Given the description of an element on the screen output the (x, y) to click on. 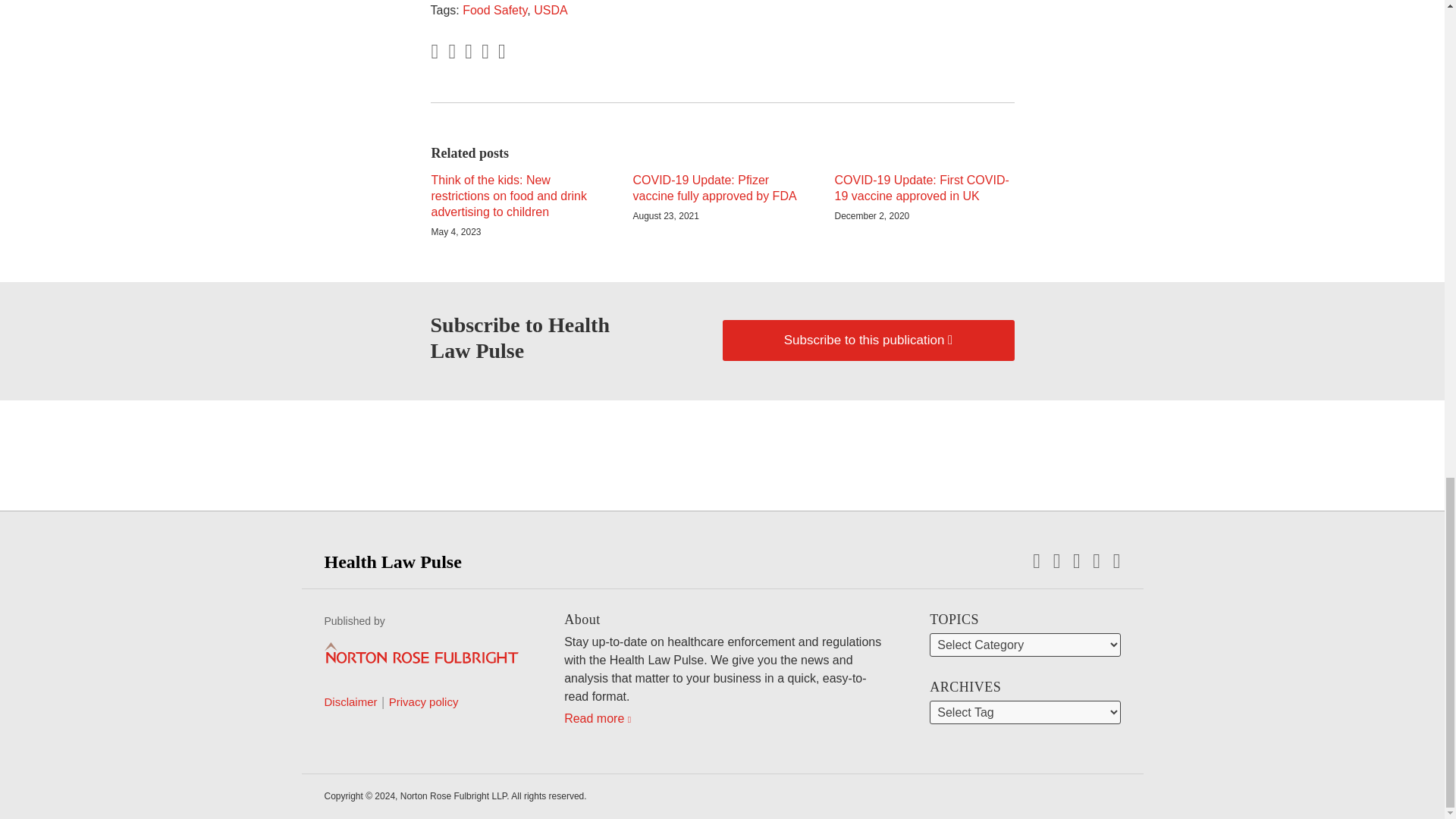
COVID-19 Update: Pfizer vaccine fully approved by FDA (720, 188)
Privacy policy (423, 701)
USDA (550, 10)
Health Law Pulse (392, 561)
Subscribe to this publication (867, 340)
COVID-19 Update: First COVID-19 vaccine approved in UK (923, 188)
Food Safety (495, 10)
Disclaimer (350, 701)
